Given the description of an element on the screen output the (x, y) to click on. 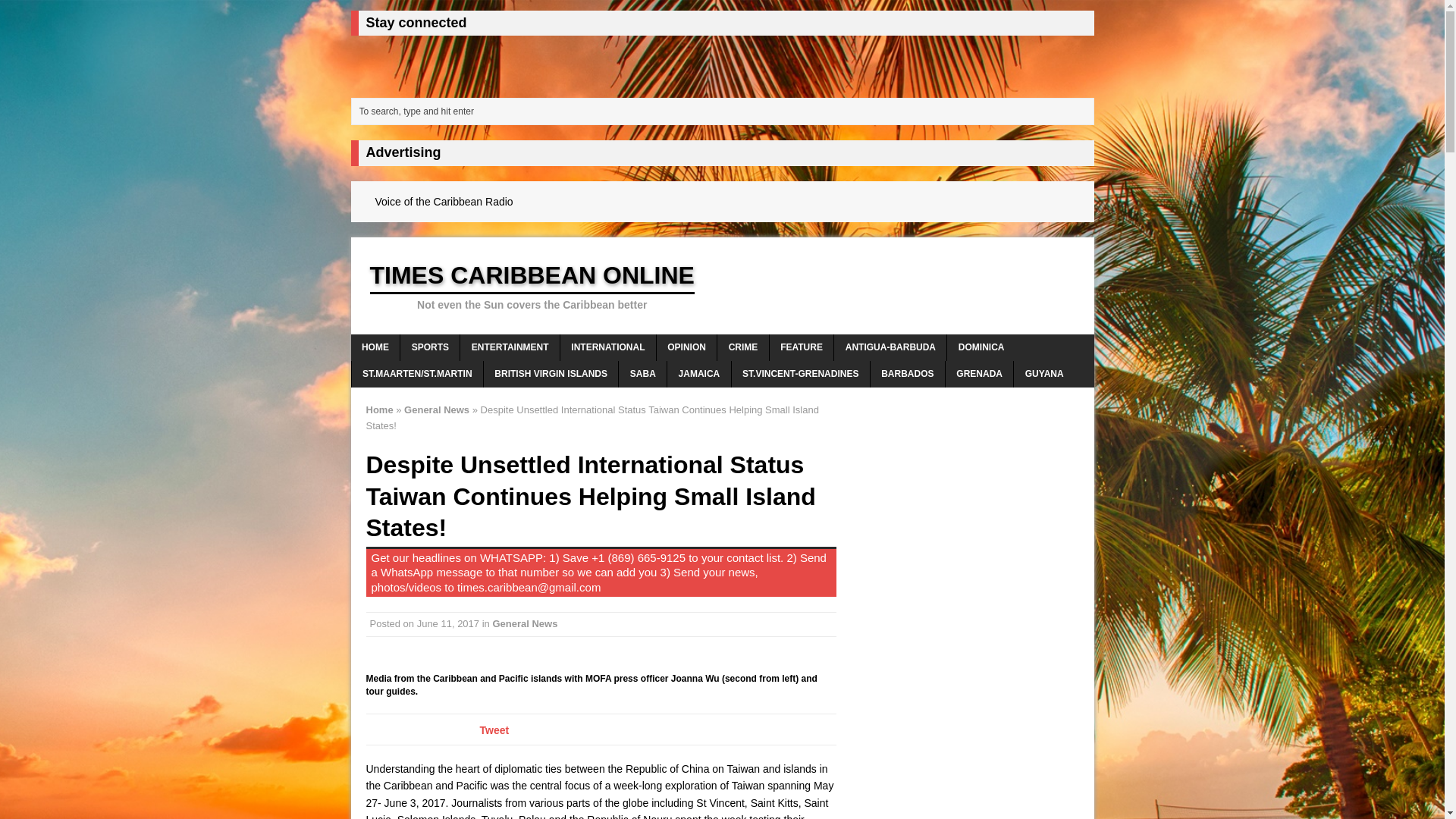
SPORTS (430, 347)
FEATURE (802, 347)
GUYANA (1043, 374)
Home (379, 409)
To search, type and hit enter (725, 111)
ENTERTAINMENT (509, 347)
OPINION (686, 347)
Tweet (493, 729)
Times Caribbean Online (721, 285)
GRENADA (978, 374)
